Given the description of an element on the screen output the (x, y) to click on. 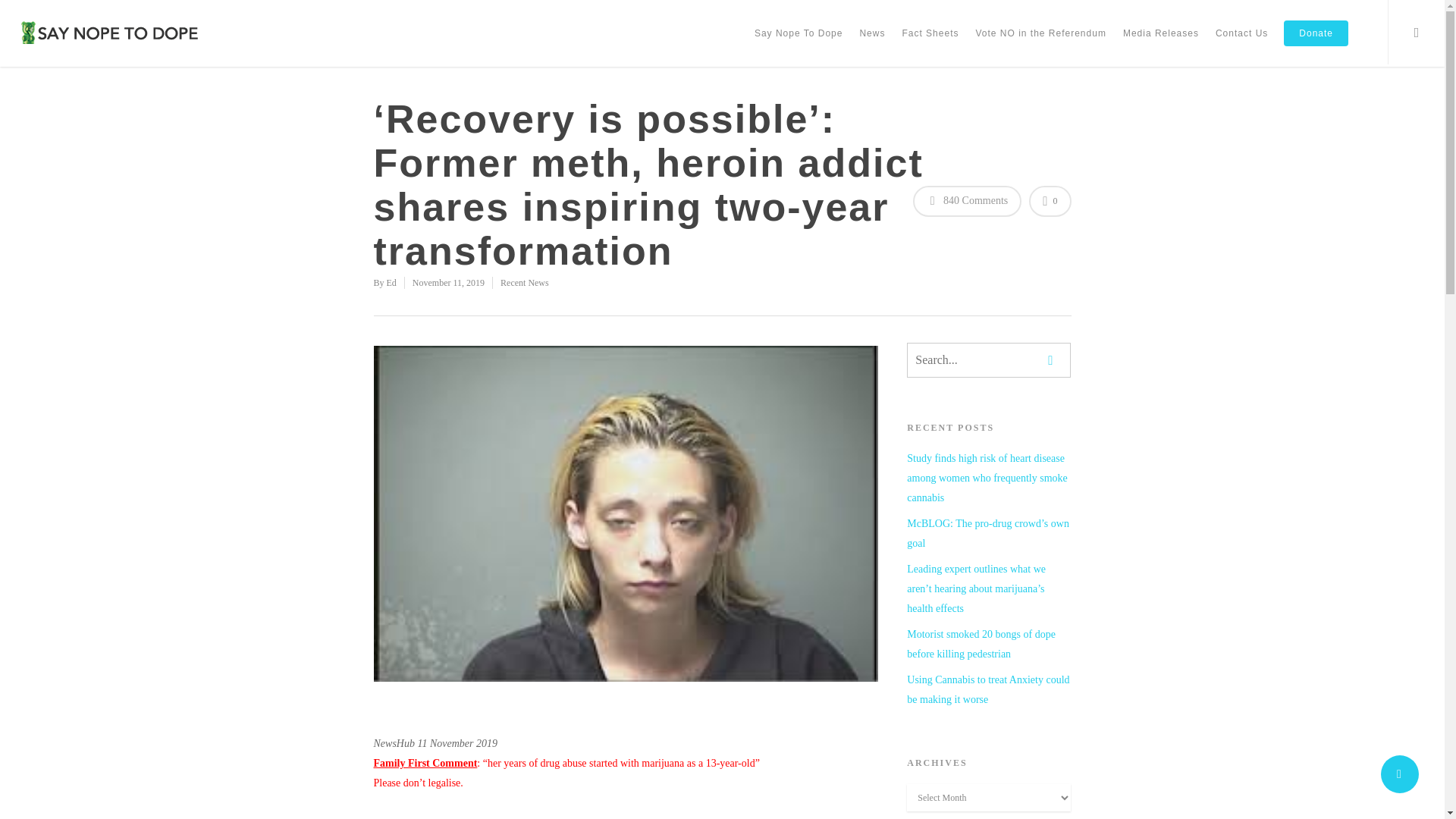
0 (1049, 201)
Contact Us (1241, 43)
840 Comments (967, 201)
Fact Sheets (929, 43)
Recent News (524, 282)
Motorist smoked 20 bongs of dope before killing pedestrian (988, 644)
Love this (1049, 201)
Media Releases (1161, 43)
Using Cannabis to treat Anxiety could be making it worse (988, 690)
News (871, 43)
Donate (1316, 43)
Vote NO in the Referendum (1040, 43)
Posts by Ed (391, 282)
Say Nope To Dope (798, 43)
